Given the description of an element on the screen output the (x, y) to click on. 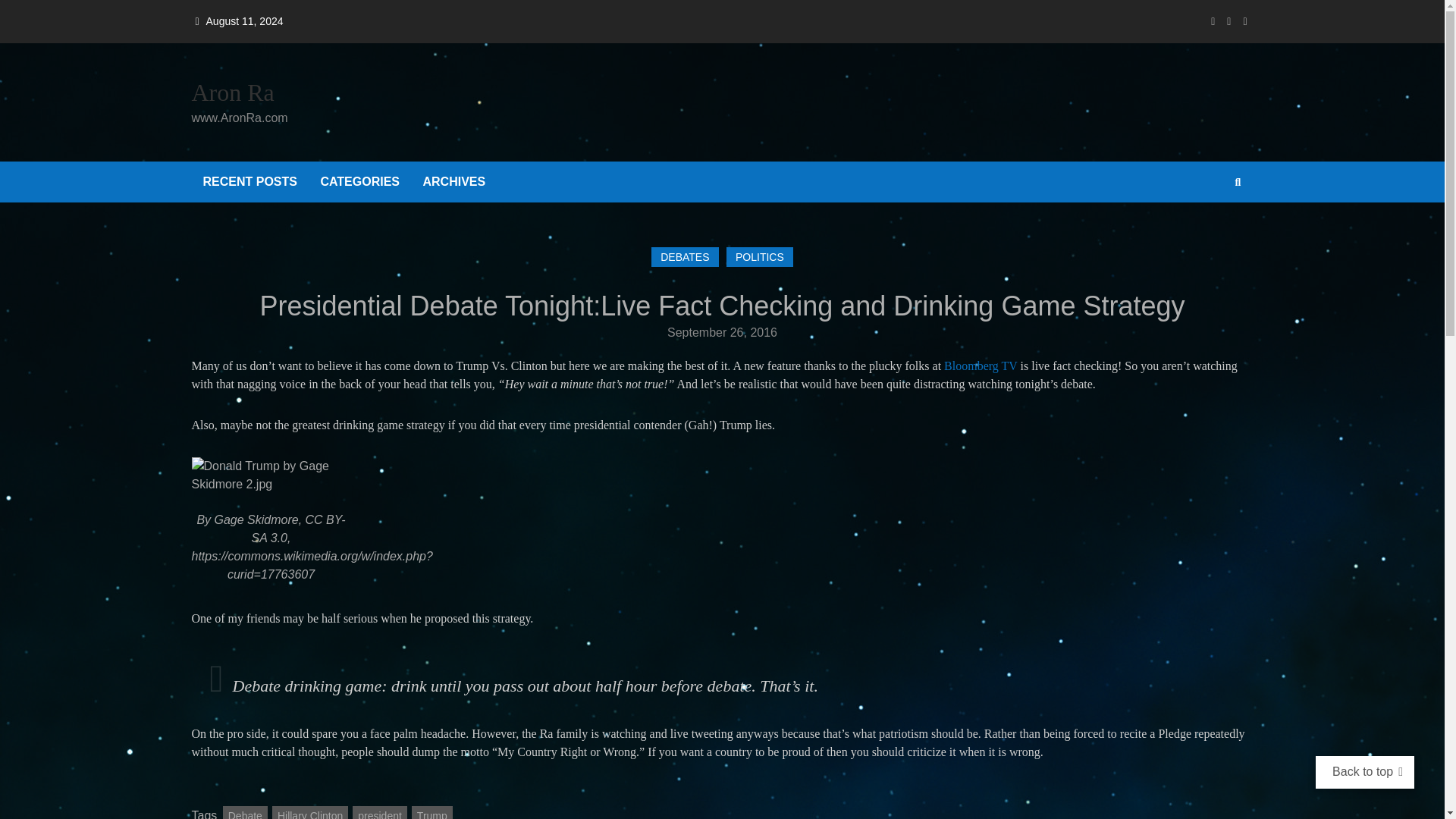
ARCHIVES (453, 181)
POLITICS (759, 256)
Back to top (1361, 771)
DEBATES (683, 256)
Hillary Clinton (309, 812)
president (379, 812)
CATEGORIES (359, 181)
Aron Ra (238, 92)
Bloomberg TV (979, 365)
RECENT POSTS (248, 181)
